Given the description of an element on the screen output the (x, y) to click on. 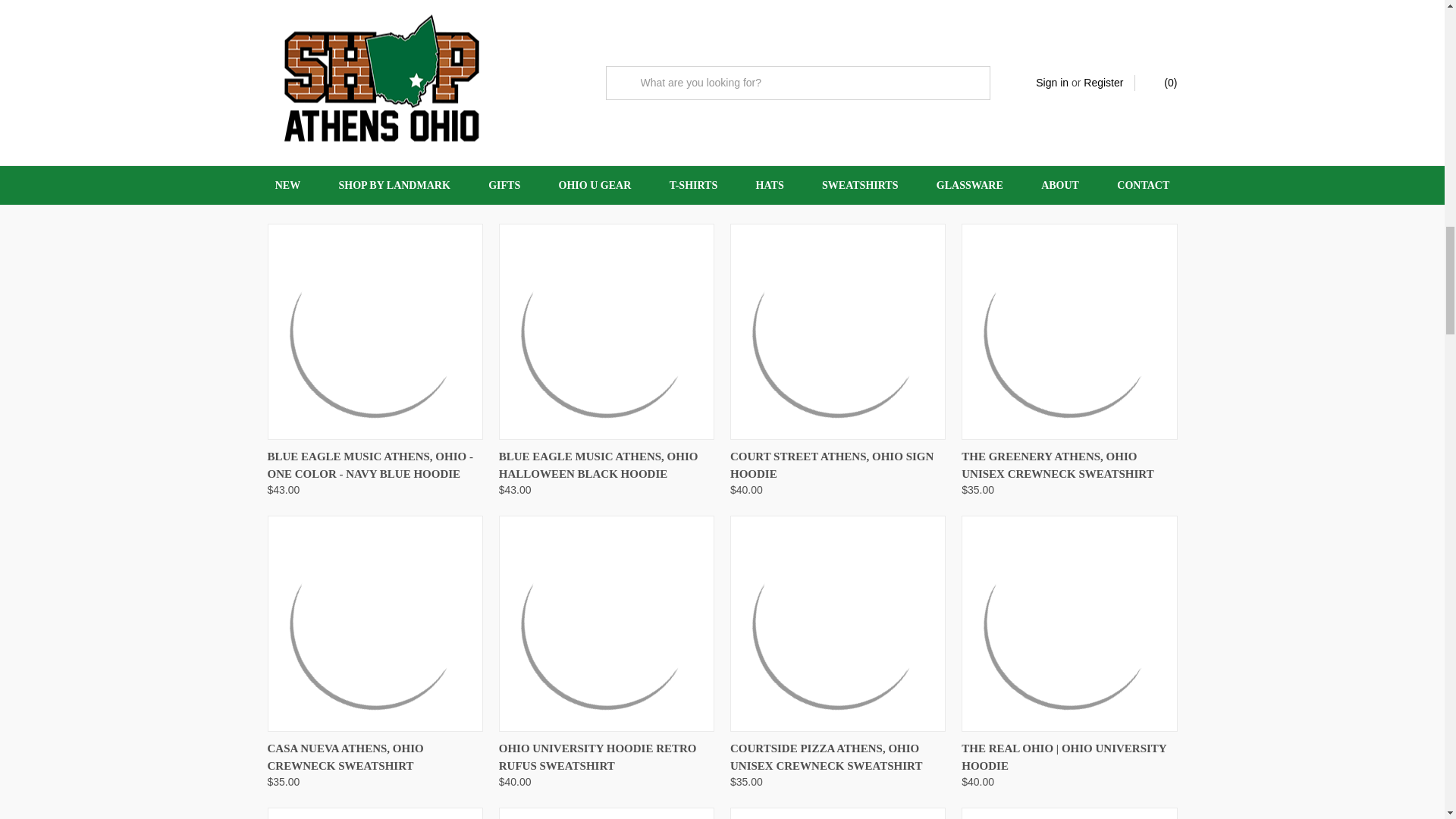
The Junction Bar Athens, Ohio Hoodie (606, 72)
Stephen's Bar Athens, Ohio Pocket Logo Hoodie Black Front (374, 72)
